Given the description of an element on the screen output the (x, y) to click on. 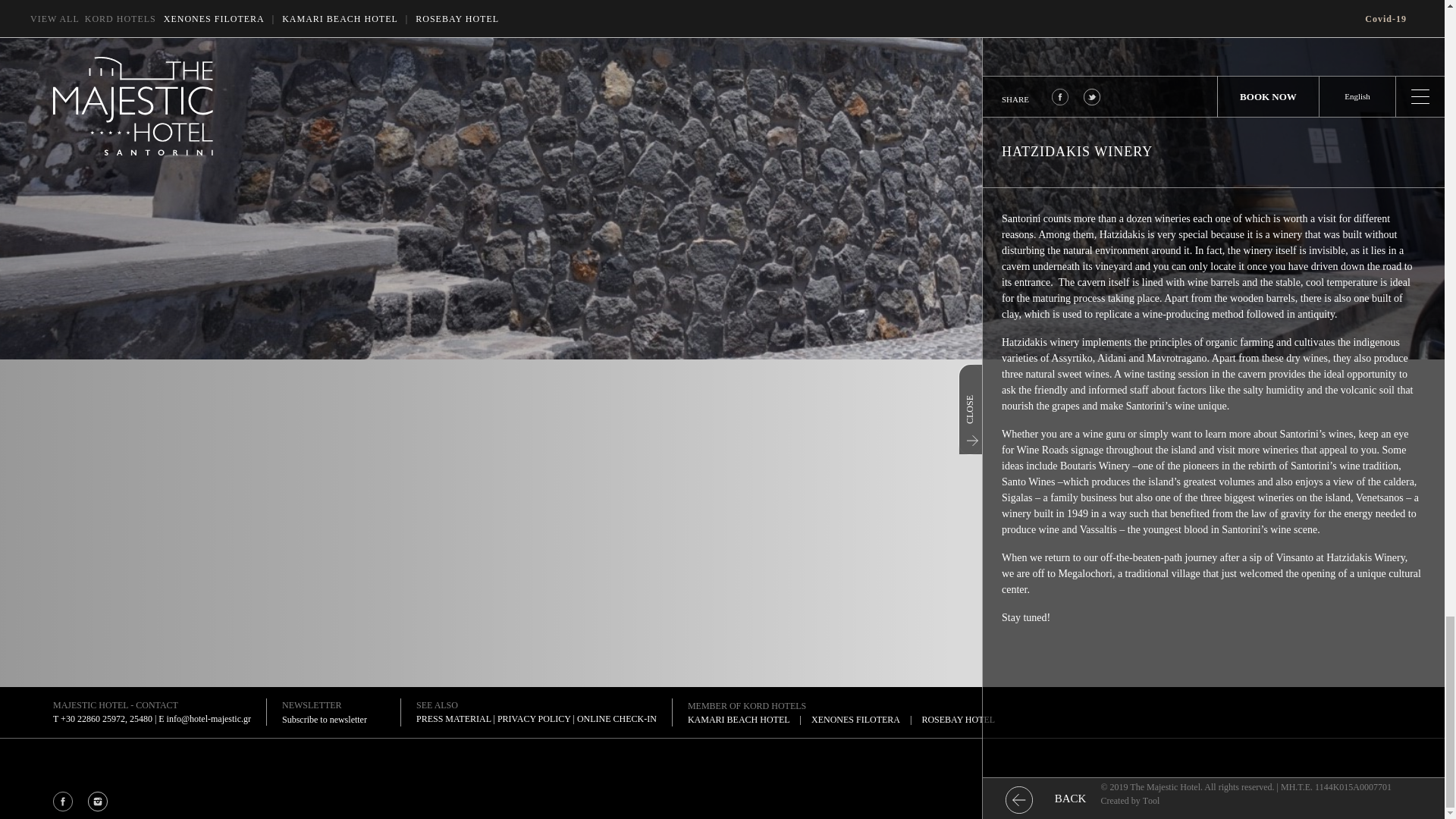
KAMARI BEACH HOTEL (738, 719)
Tool (1151, 800)
XENONES FILOTERA (854, 719)
Subscribe to newsletter (333, 719)
PRESS MATERIAL (454, 718)
MEMBER OF KORD HOTELS (746, 706)
ROSEBAY HOTEL (957, 719)
